Given the description of an element on the screen output the (x, y) to click on. 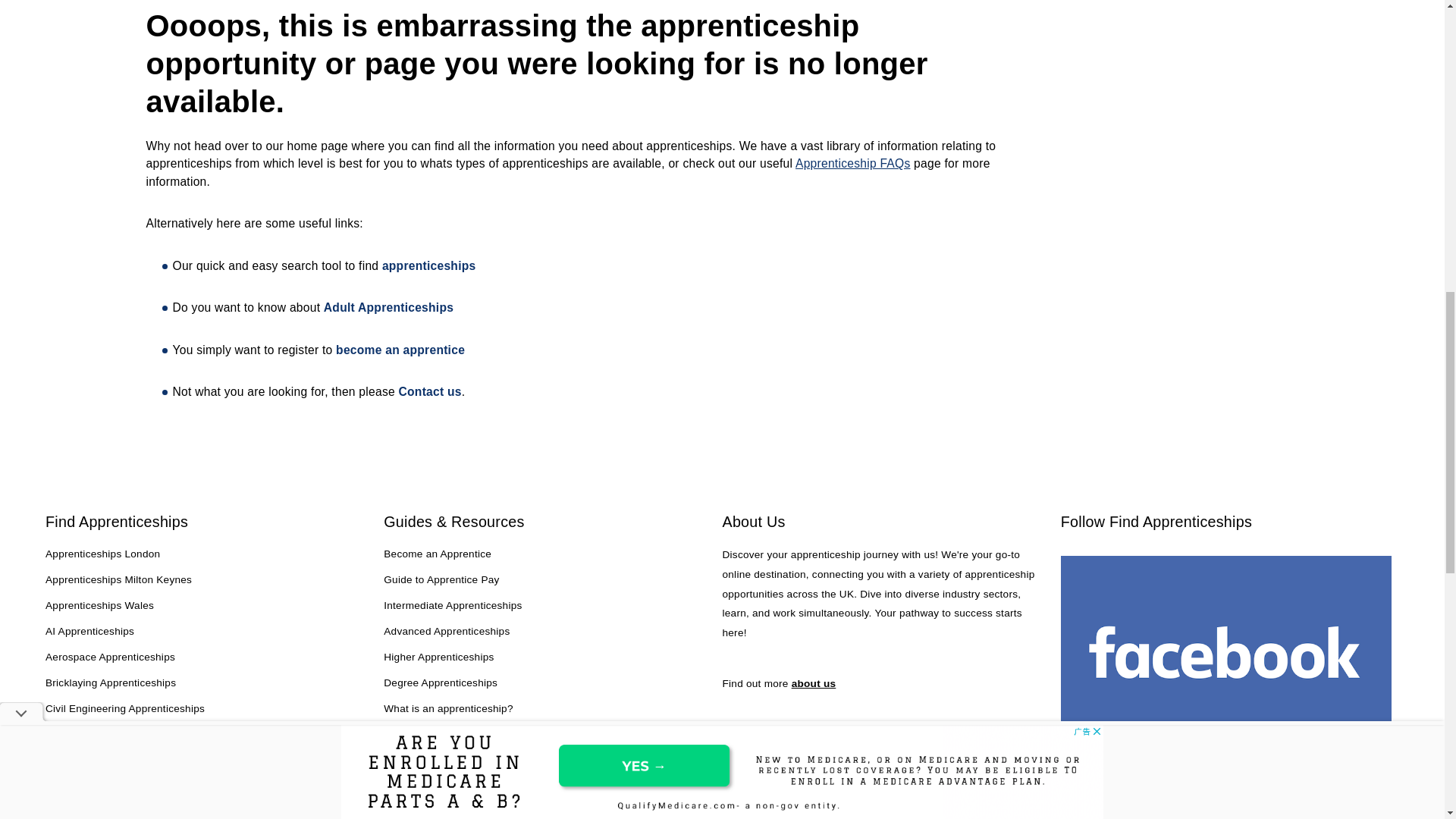
Civil Engineering Apprenticeships (125, 709)
AI Apprenticeships (89, 632)
Become an Apprentice (487, 358)
Electrician Apprenticeships (109, 811)
Apprenticeships Milton Keynes (118, 580)
Adult Apprenticeships (387, 307)
Apprenticeship FAQs (852, 163)
Cyber Security Apprenticeships (119, 761)
Bricklaying Apprenticeships (110, 683)
Apprenticeships London (102, 555)
